Given the description of an element on the screen output the (x, y) to click on. 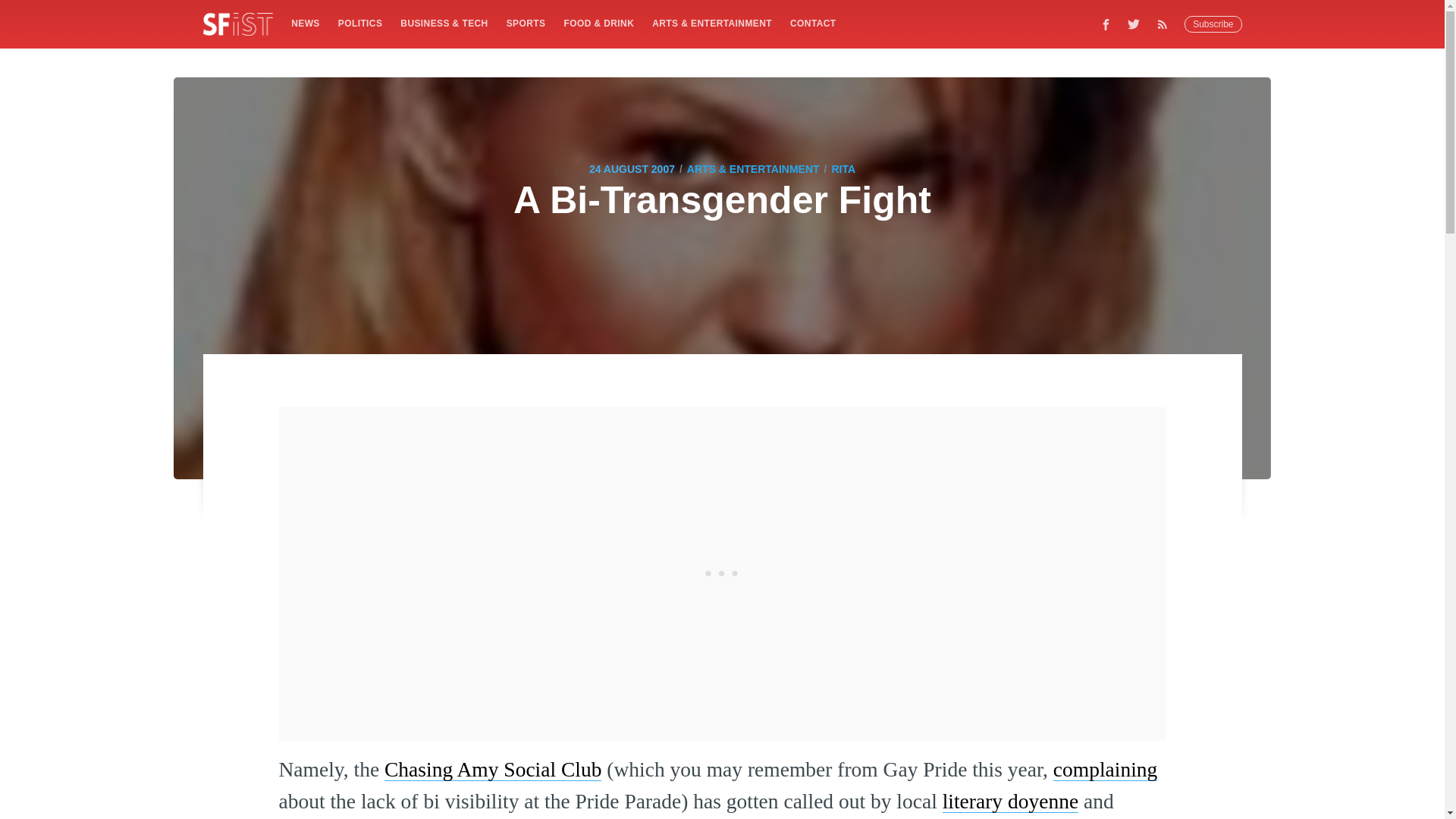
CONTACT (812, 23)
Chasing Amy Social Club (492, 769)
Facebook (1106, 23)
literary doyenne (1010, 801)
complaining (1104, 769)
Subscribe (1213, 23)
NEWS (305, 23)
Twitter (1133, 23)
POLITICS (360, 23)
SPORTS (525, 23)
RSS (1166, 23)
RITA (843, 168)
